Given the description of an element on the screen output the (x, y) to click on. 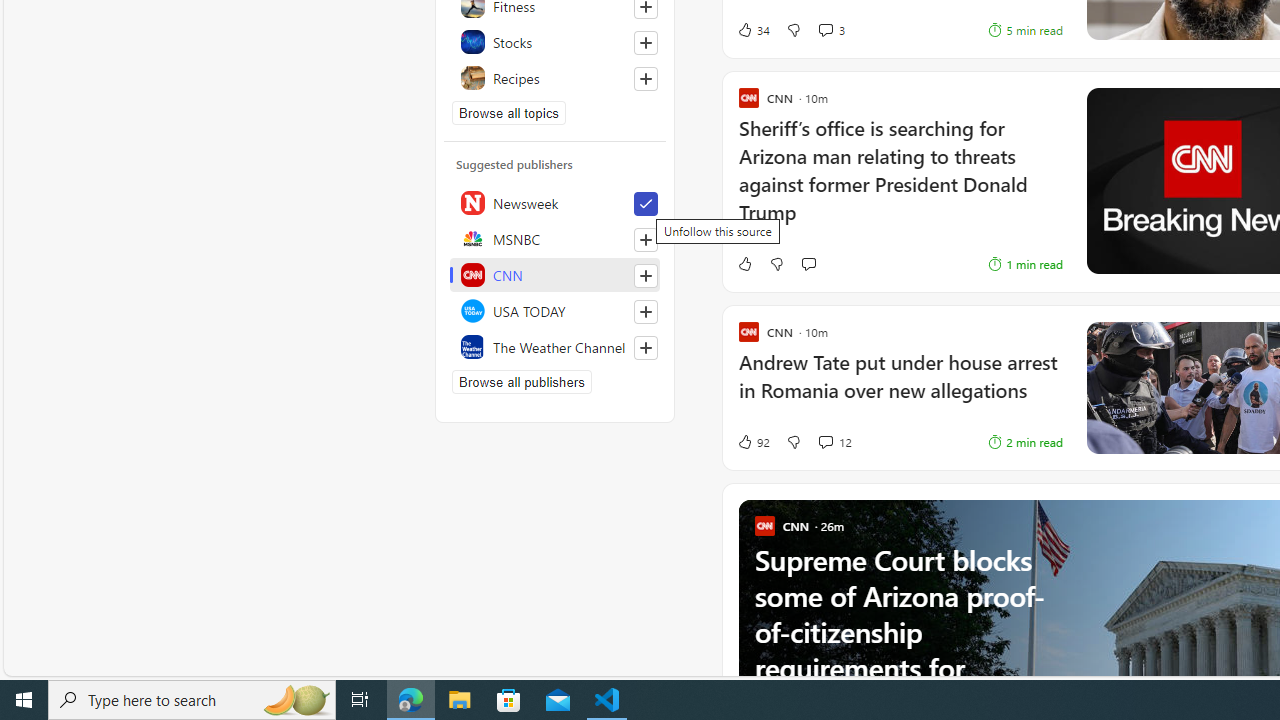
View comments 12 Comment (825, 442)
Start the conversation (808, 264)
Newsweek (555, 202)
Like (744, 264)
Follow this topic (645, 78)
View comments 12 Comment (834, 442)
Stocks (555, 42)
Recipes (555, 78)
Follow this source (645, 348)
The Weather Channel (555, 346)
View comments 3 Comment (830, 30)
CNN (555, 274)
Unfollow this source (645, 204)
